Given the description of an element on the screen output the (x, y) to click on. 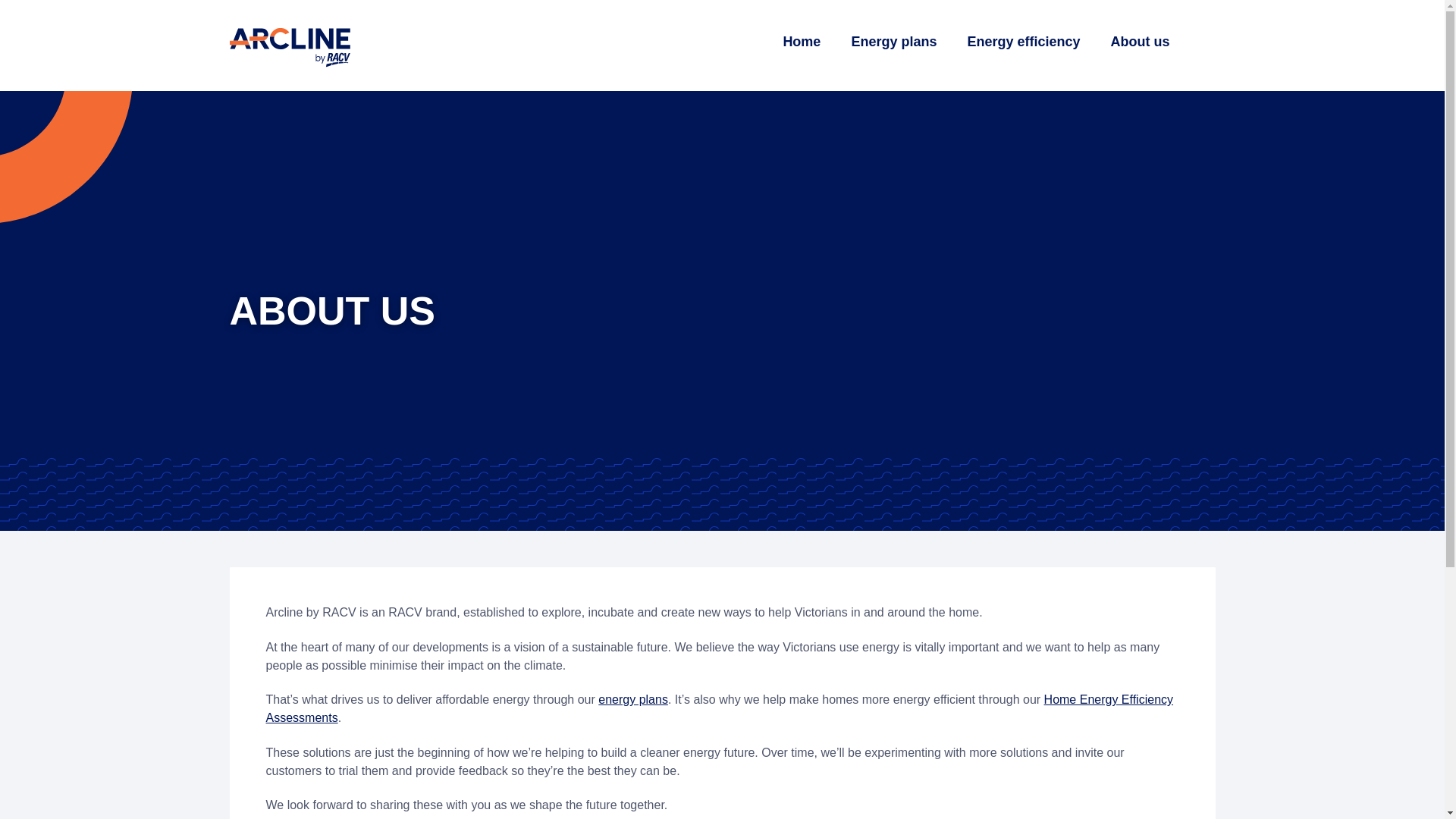
Energy plans (893, 41)
Home Energy Efficiency Assessments (718, 707)
Home (801, 41)
energy plans (633, 698)
About us (1139, 41)
Energy efficiency (1023, 41)
